Given the description of an element on the screen output the (x, y) to click on. 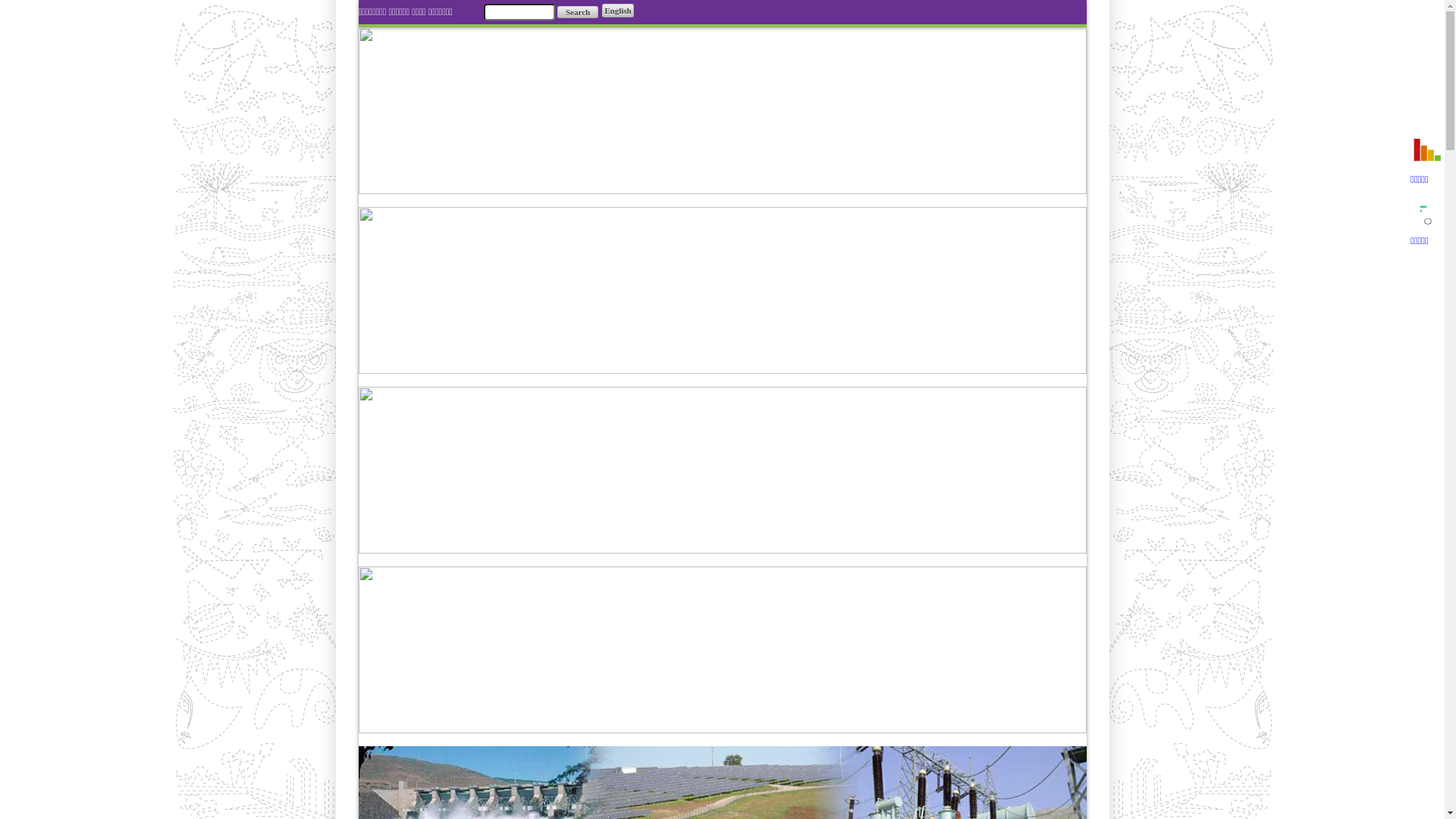
English Element type: text (617, 10)
Search Element type: text (577, 12)
